Given the description of an element on the screen output the (x, y) to click on. 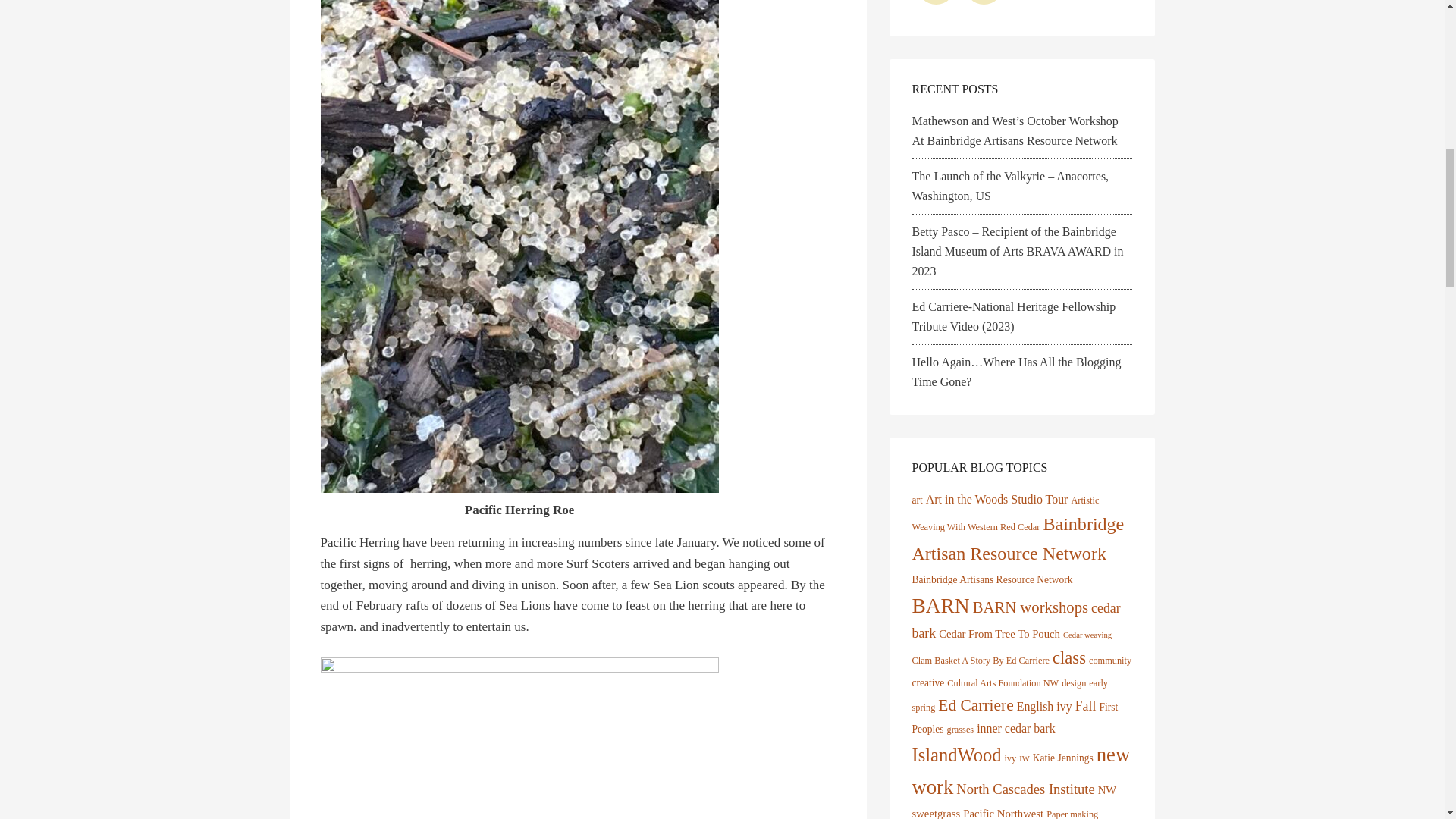
BARN workshops (1029, 606)
Bainbridge Artisan Resource Network (1017, 538)
Art in the Woods Studio Tour (997, 499)
art (916, 500)
Artistic Weaving With Western Red Cedar (1005, 513)
Bainbridge Artisans Resource Network (991, 578)
BARN (940, 605)
